Given the description of an element on the screen output the (x, y) to click on. 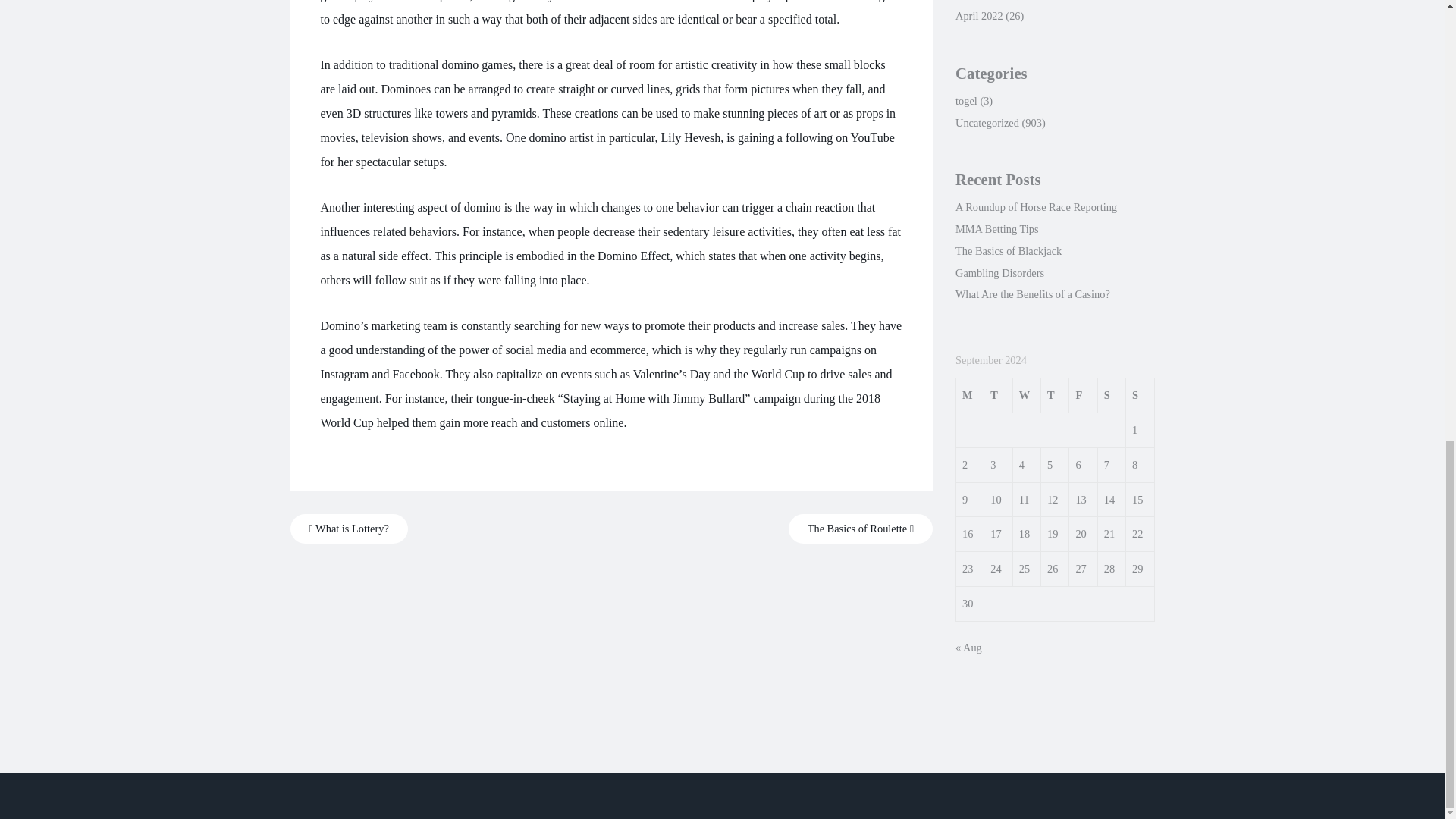
April 2022 (979, 15)
What is Lottery? (348, 528)
The Basics of Roulette (861, 528)
